Given the description of an element on the screen output the (x, y) to click on. 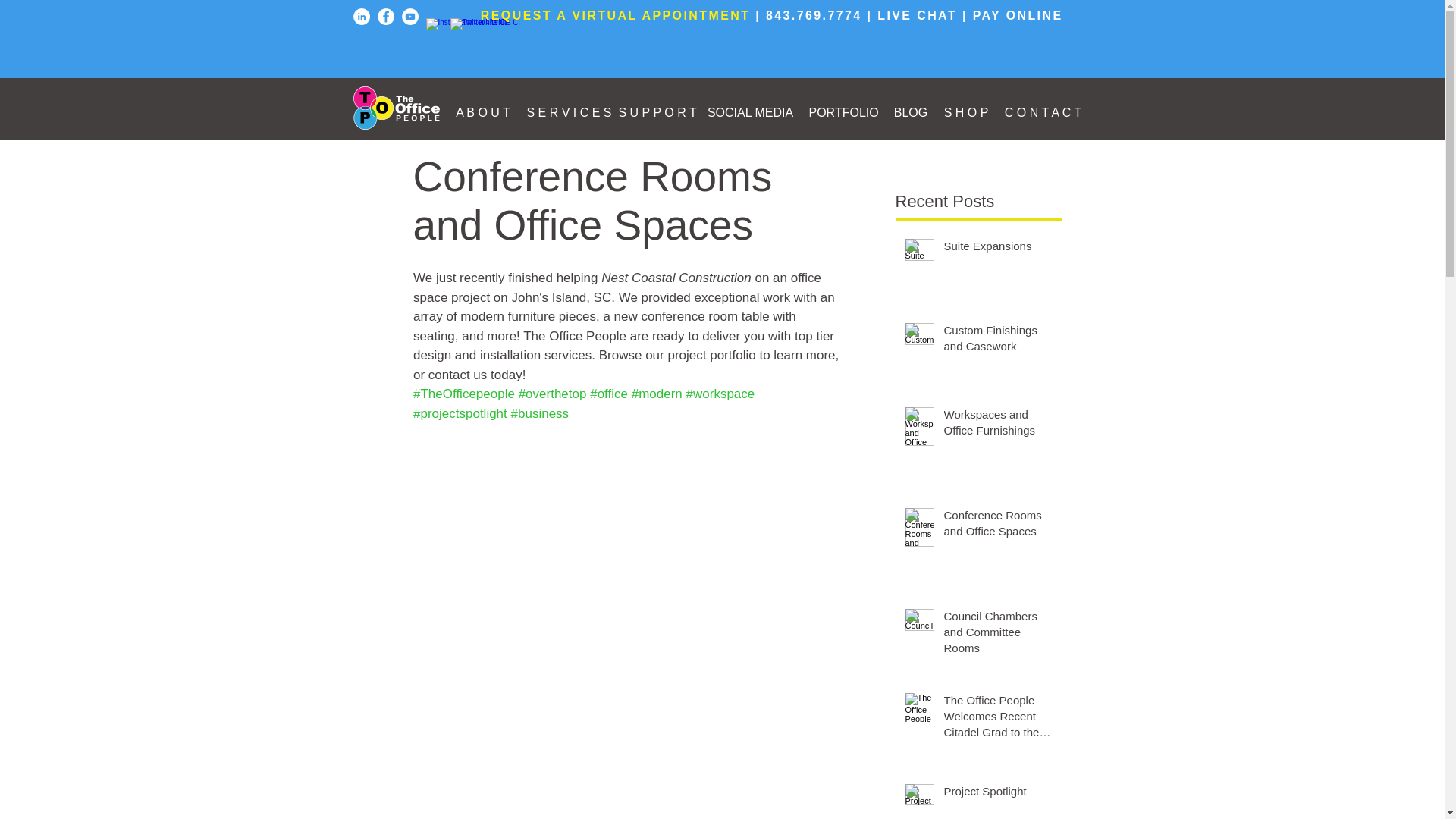
S H O P (965, 112)
C O N T A C T (1042, 112)
LIVE CHAT (916, 15)
BLOG (910, 112)
SOCIAL MEDIA (749, 112)
PORTFOLIO (842, 112)
PAY ONLINE (1017, 15)
S U P P O R T (655, 112)
843.769.7774 (813, 15)
REQUEST A VIRTUAL APPOINTMENT (615, 15)
